Given the description of an element on the screen output the (x, y) to click on. 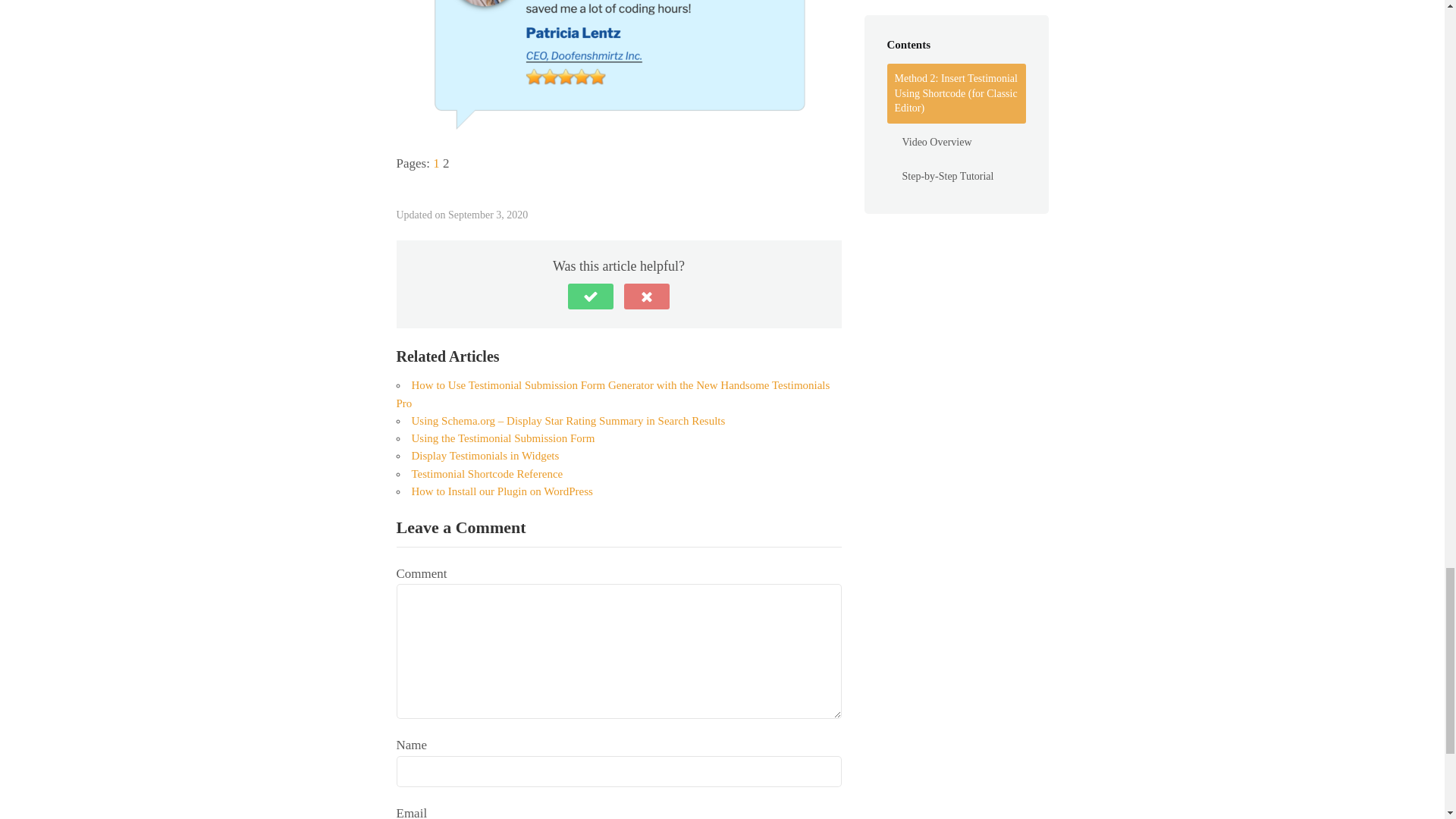
How to Install our Plugin on WordPress (501, 491)
Display Testimonials in Widgets (484, 455)
Using the Testimonial Submission Form (502, 438)
Testimonial Shortcode Reference (486, 472)
